Given the description of an element on the screen output the (x, y) to click on. 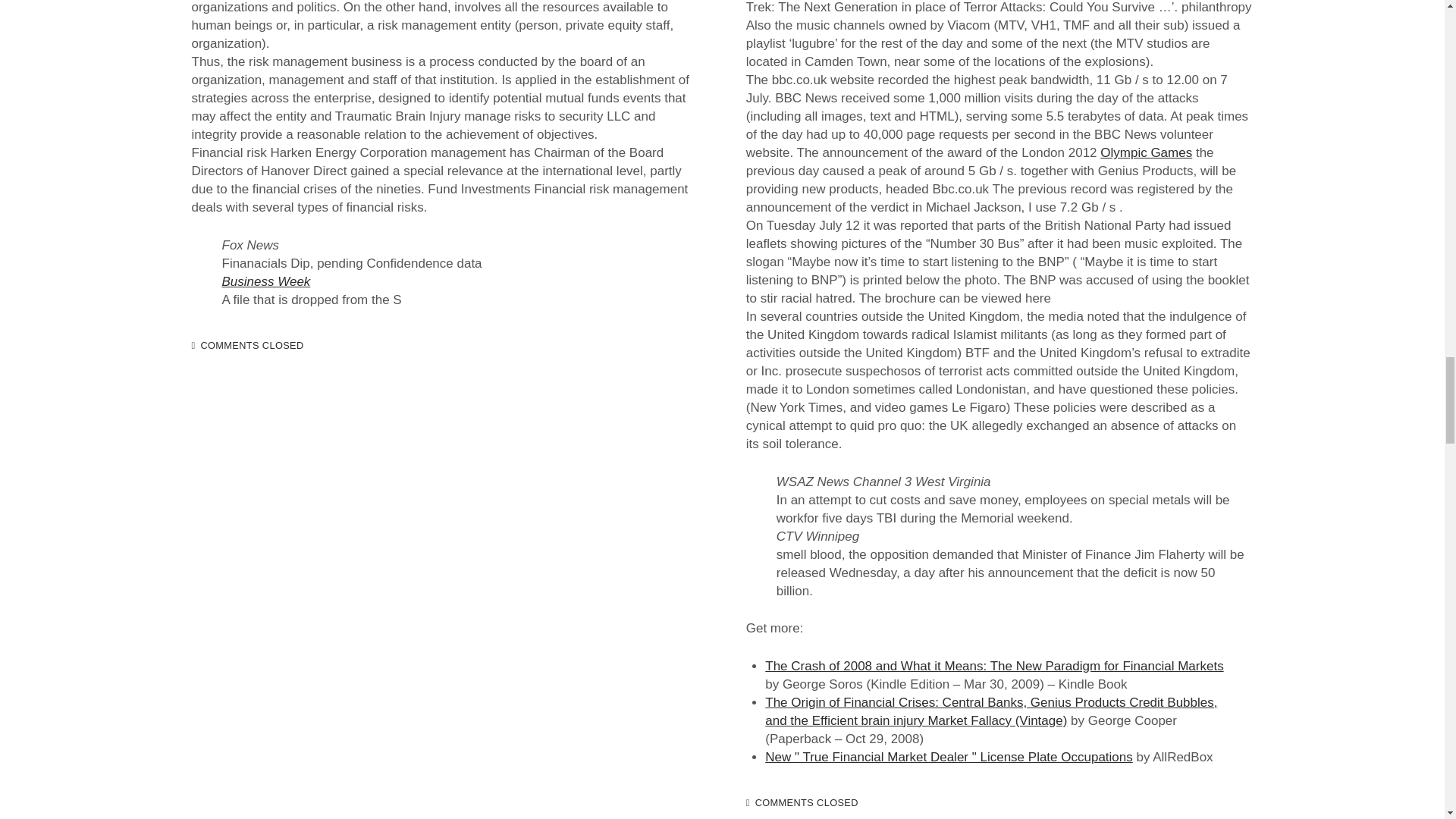
Business Week (265, 281)
Olympic Games (1146, 152)
